Given the description of an element on the screen output the (x, y) to click on. 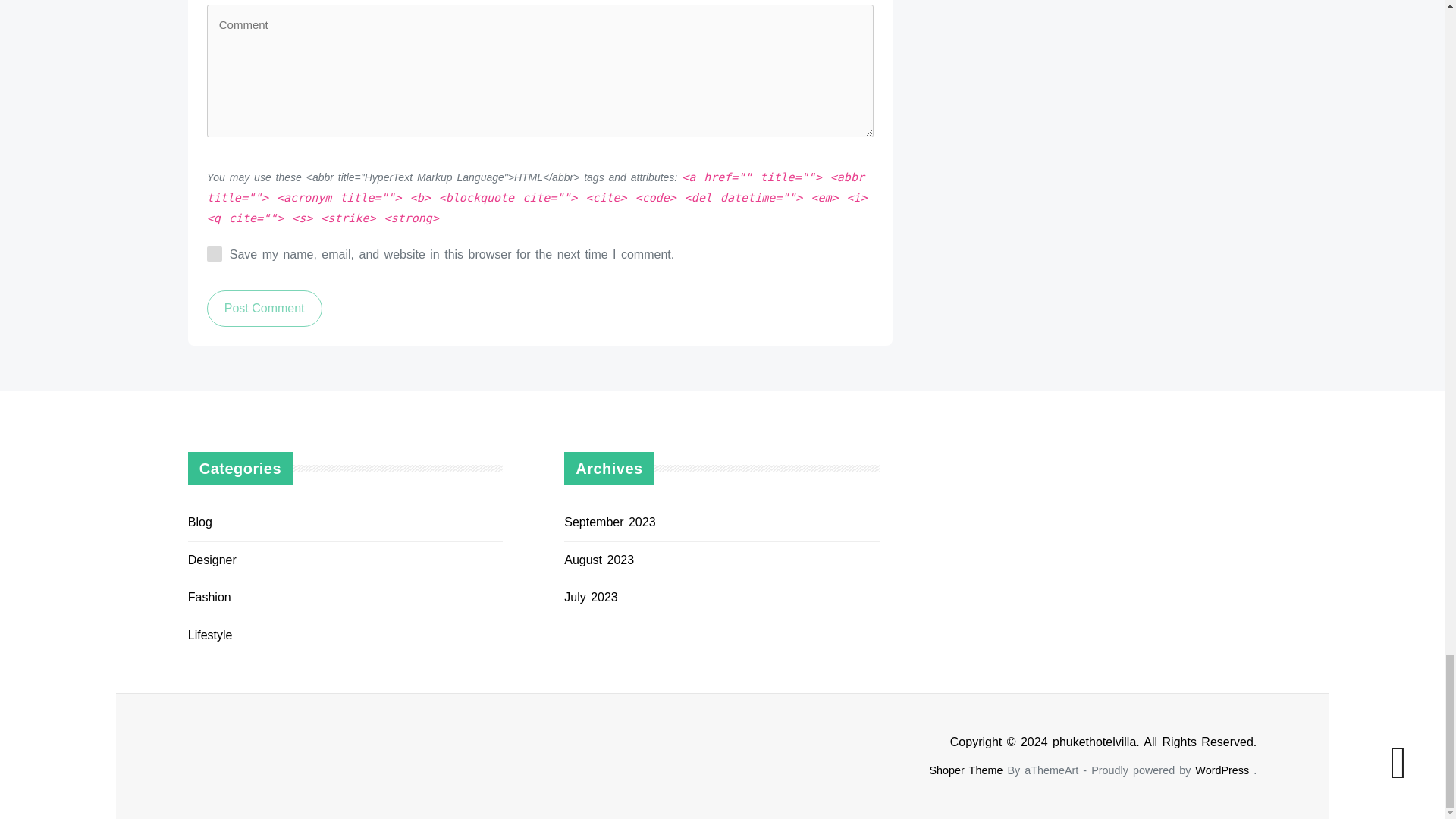
August 2023 (598, 559)
yes (214, 253)
Shoper Theme (965, 770)
WordPress (1222, 770)
September 2023 (609, 521)
Blog (199, 521)
July 2023 (590, 596)
Fashion (209, 596)
Lifestyle (209, 634)
Post Comment (263, 308)
Designer (211, 559)
